Given the description of an element on the screen output the (x, y) to click on. 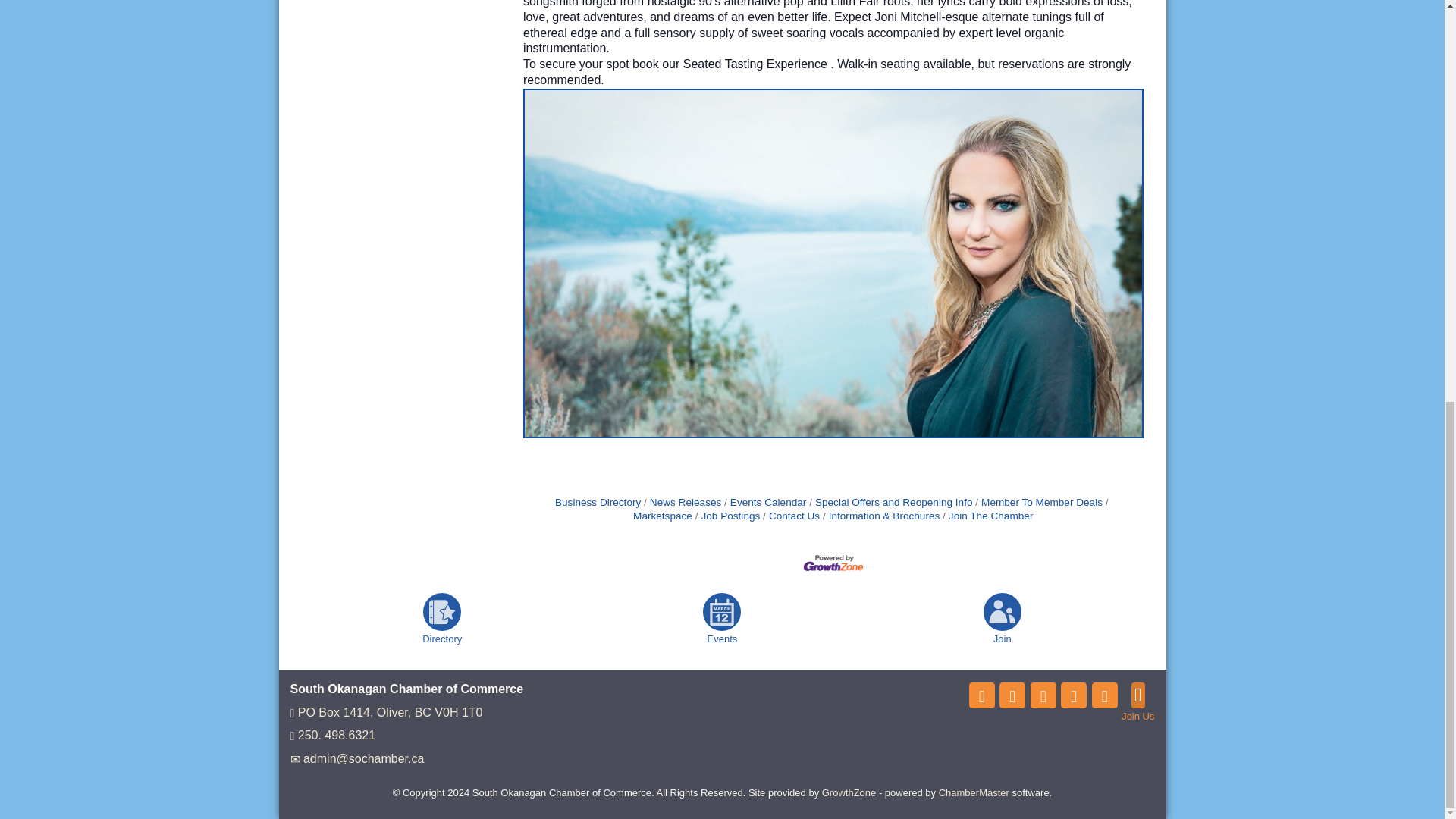
Icon Link (981, 695)
Join (1003, 611)
Directory (442, 611)
Events (722, 611)
